Given the description of an element on the screen output the (x, y) to click on. 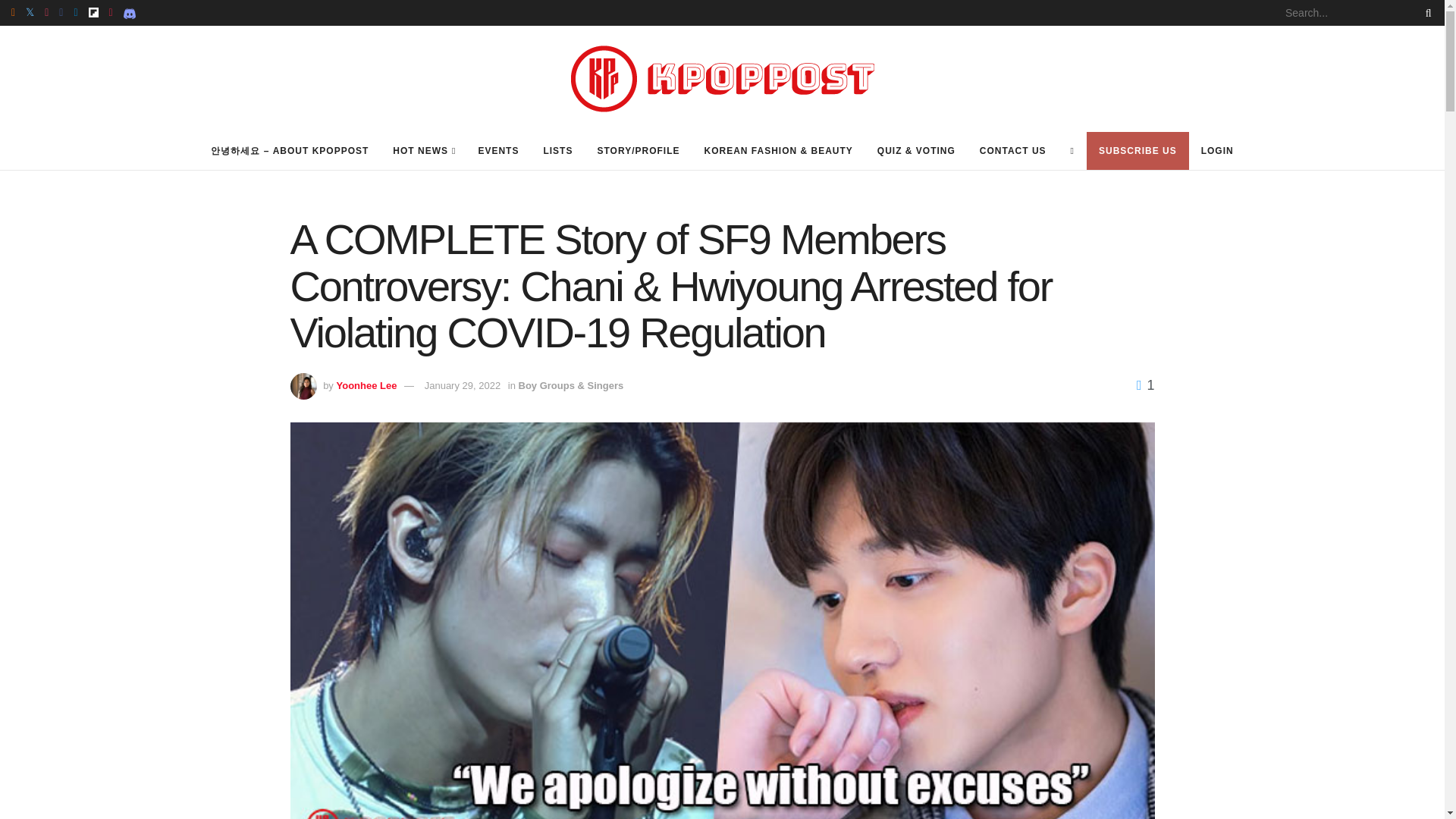
HOT NEWS (422, 150)
SUBSCRIBE US (1137, 150)
LOGIN (1217, 150)
CONTACT US (1013, 150)
EVENTS (498, 150)
LISTS (558, 150)
